Given the description of an element on the screen output the (x, y) to click on. 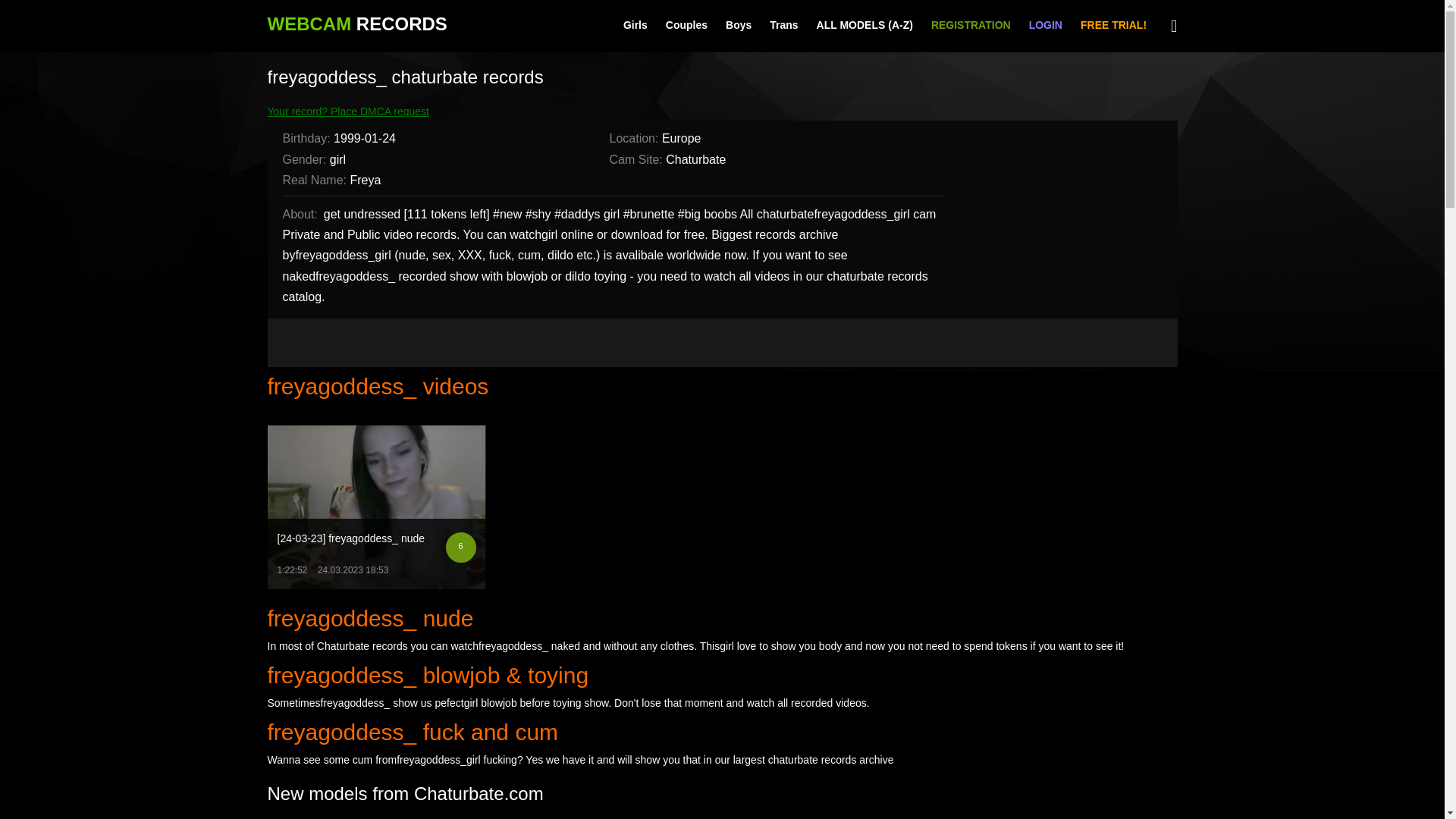
Your record? Place DMCA request (347, 111)
FREE TRIAL! (1113, 25)
WEBCAM RECORDS (356, 23)
Trans (783, 25)
LOGIN (1045, 25)
REGISTRATION (970, 25)
Couples (686, 25)
